Given the description of an element on the screen output the (x, y) to click on. 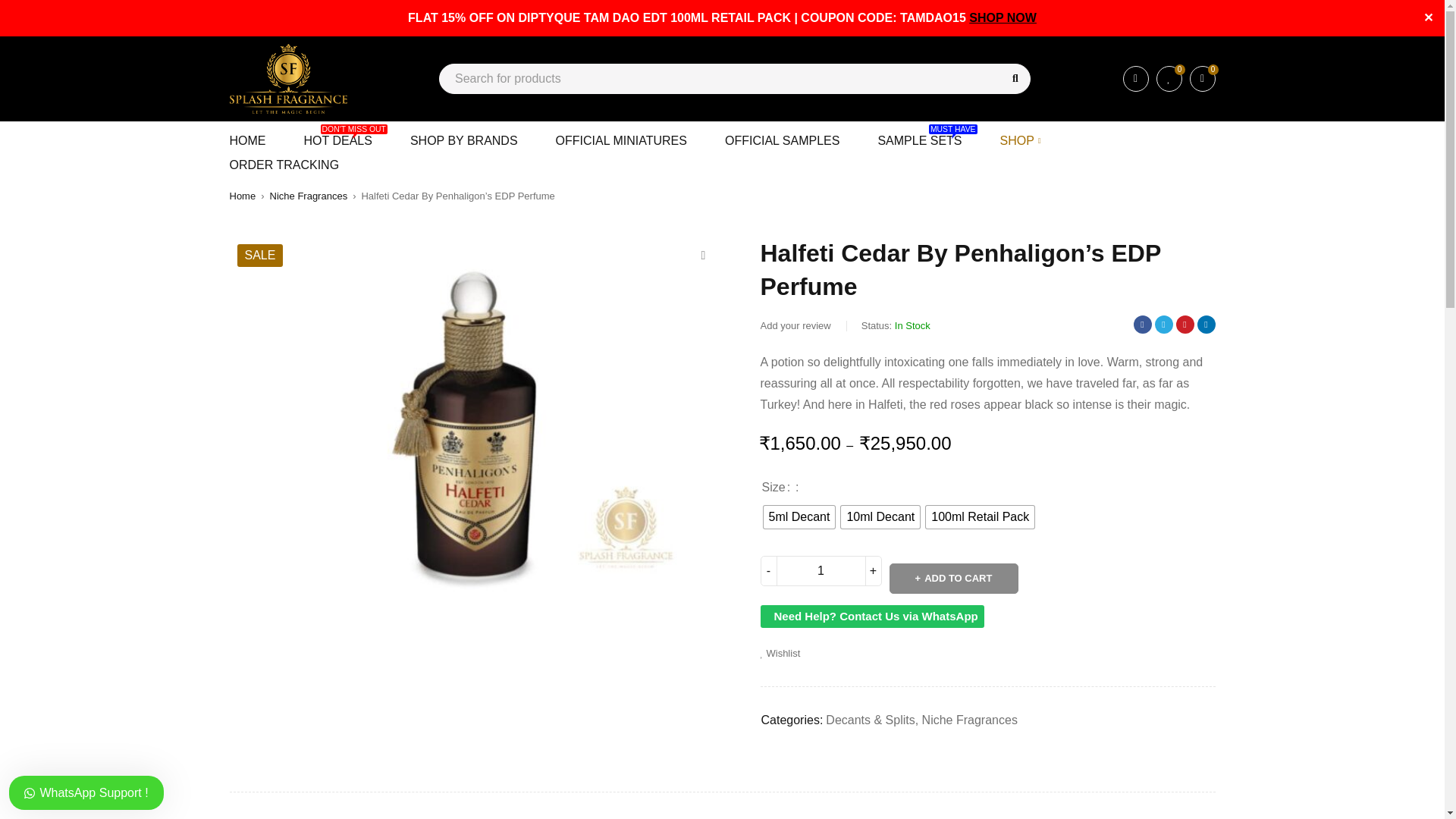
SHOP NOW (1002, 17)
OFFICIAL SAMPLES (782, 140)
1 (820, 570)
View your shopping cart (918, 140)
10ml Decant (1201, 78)
ADD TO CART (880, 517)
halfeti cedar-min (952, 578)
OFFICIAL MINIATURES (464, 140)
